Given the description of an element on the screen output the (x, y) to click on. 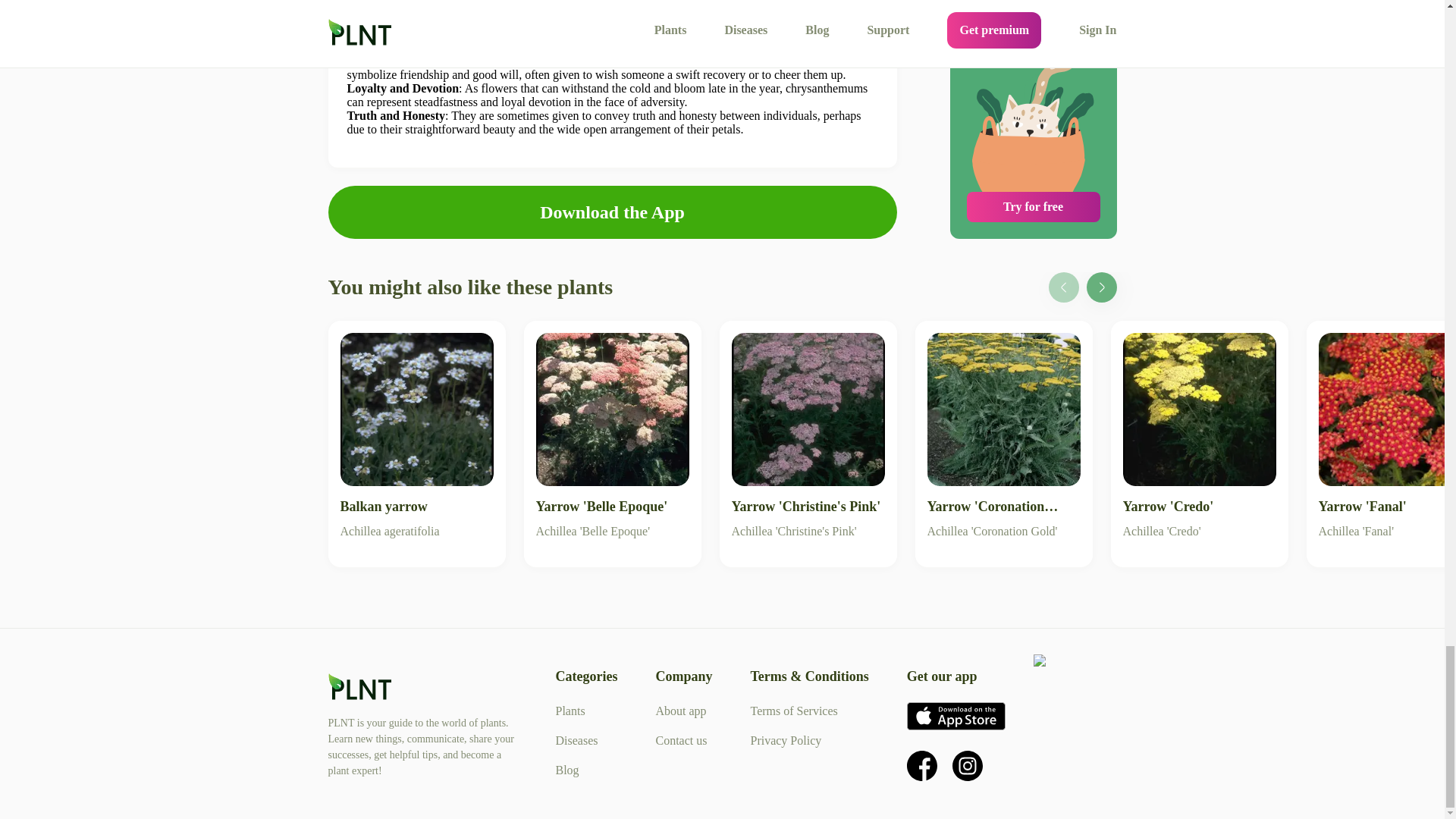
Download the App (611, 212)
Plants (569, 710)
About app (680, 710)
Contact us (680, 739)
Download the App (611, 212)
Blog (566, 769)
Privacy Policy (785, 739)
Diseases (575, 739)
Terms of Services (793, 710)
